Given the description of an element on the screen output the (x, y) to click on. 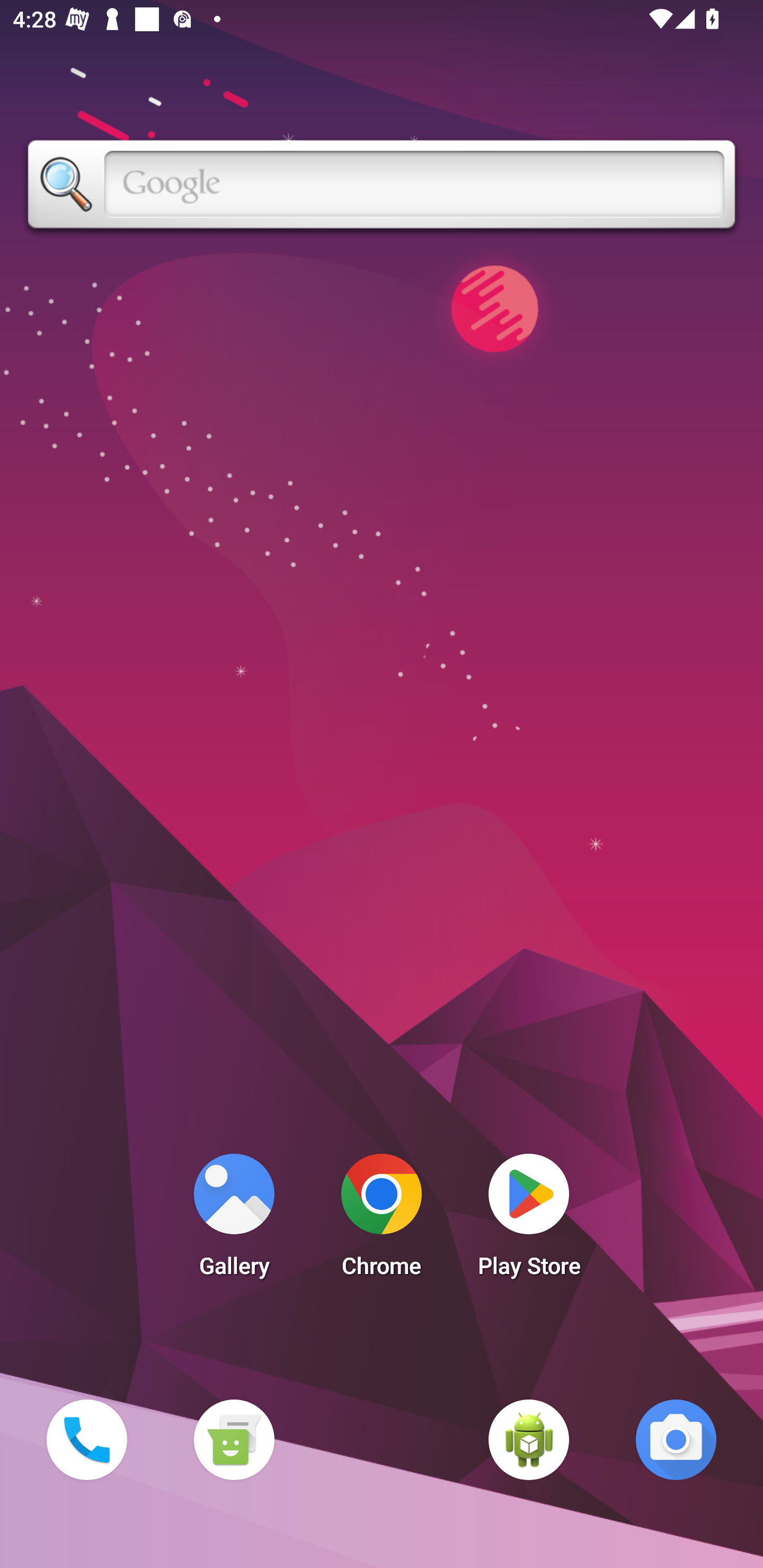
Gallery (233, 1220)
Chrome (381, 1220)
Play Store (528, 1220)
Phone (86, 1439)
Messaging (233, 1439)
WebView Browser Tester (528, 1439)
Camera (676, 1439)
